Given the description of an element on the screen output the (x, y) to click on. 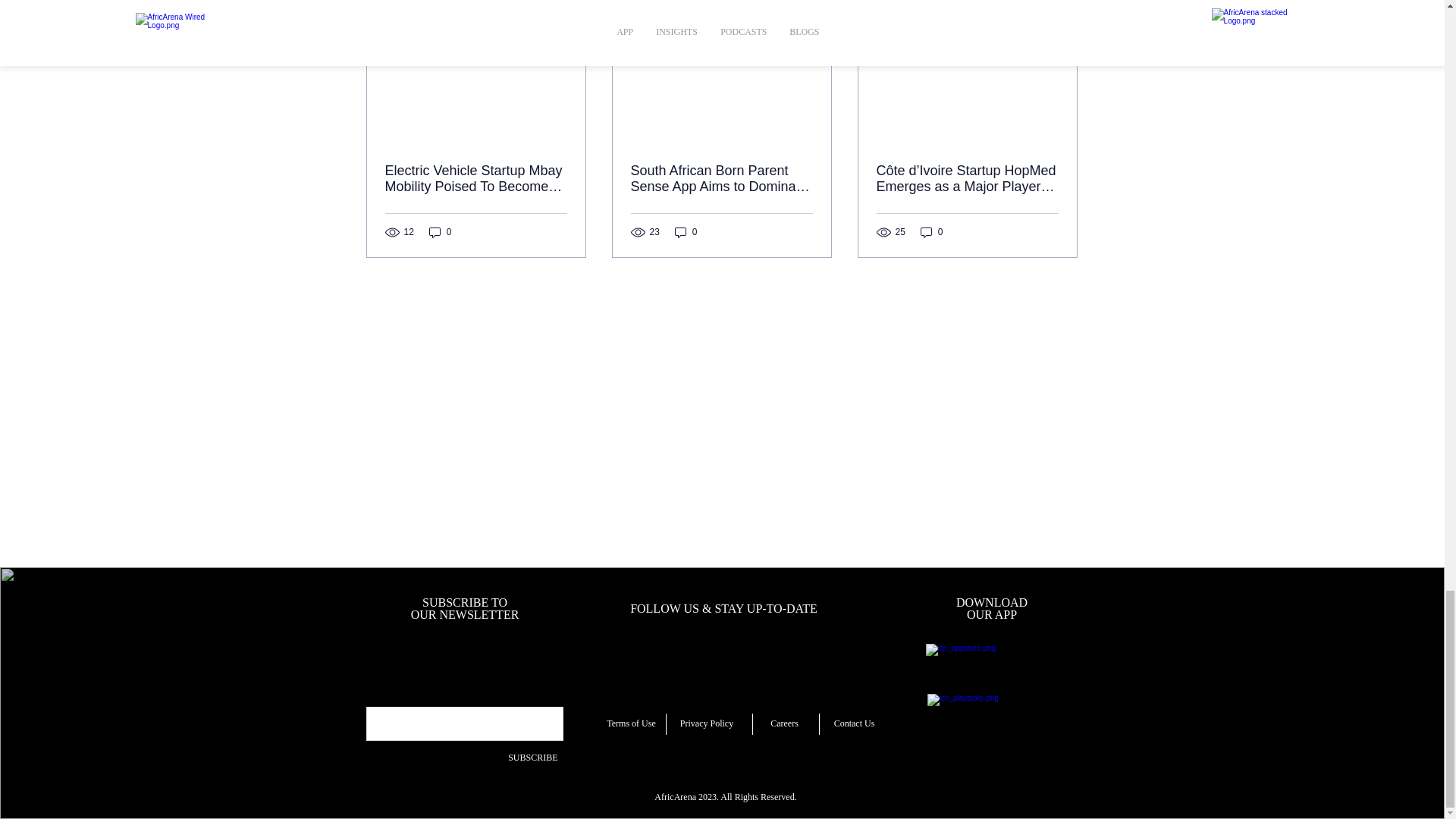
0 (685, 232)
0 (931, 232)
Terms of Use (630, 723)
SUBSCRIBE (510, 757)
See All (1061, 2)
0 (440, 232)
